Given the description of an element on the screen output the (x, y) to click on. 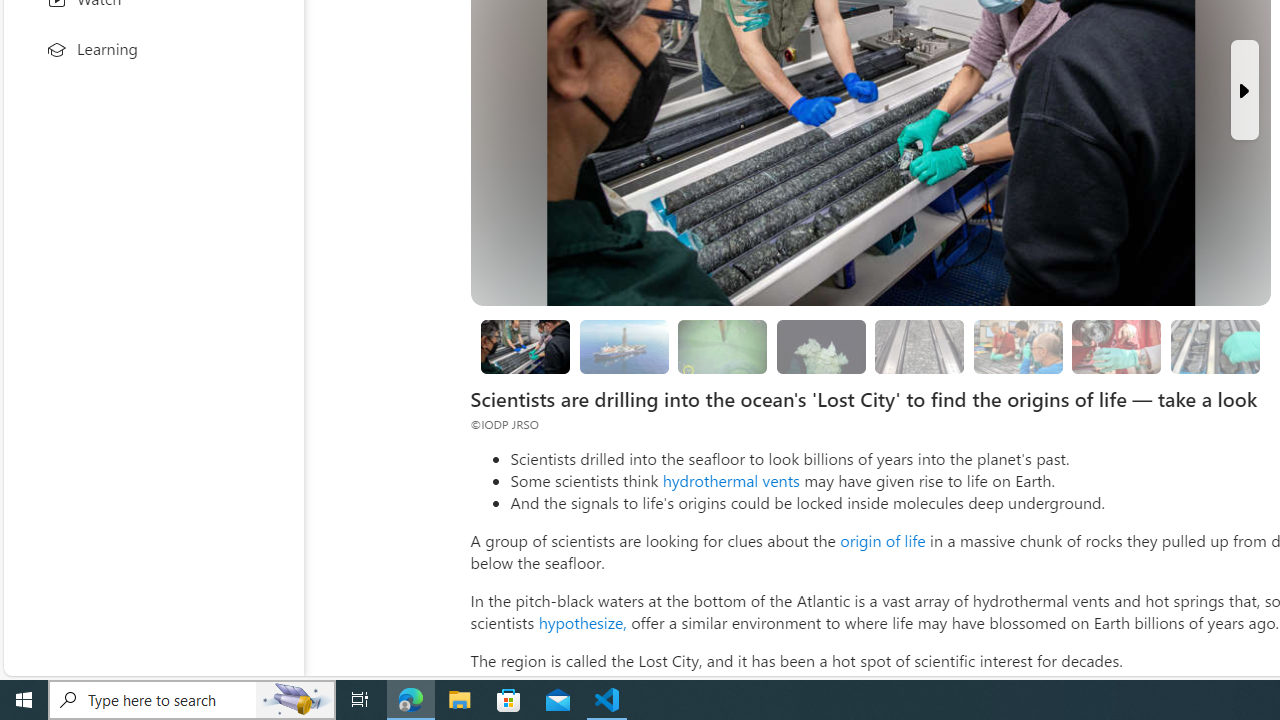
hydrothermal vents (730, 480)
Researchers are still studying the samples (1214, 346)
The Lost City could hold clues to the origin of life. (820, 346)
